Given the description of an element on the screen output the (x, y) to click on. 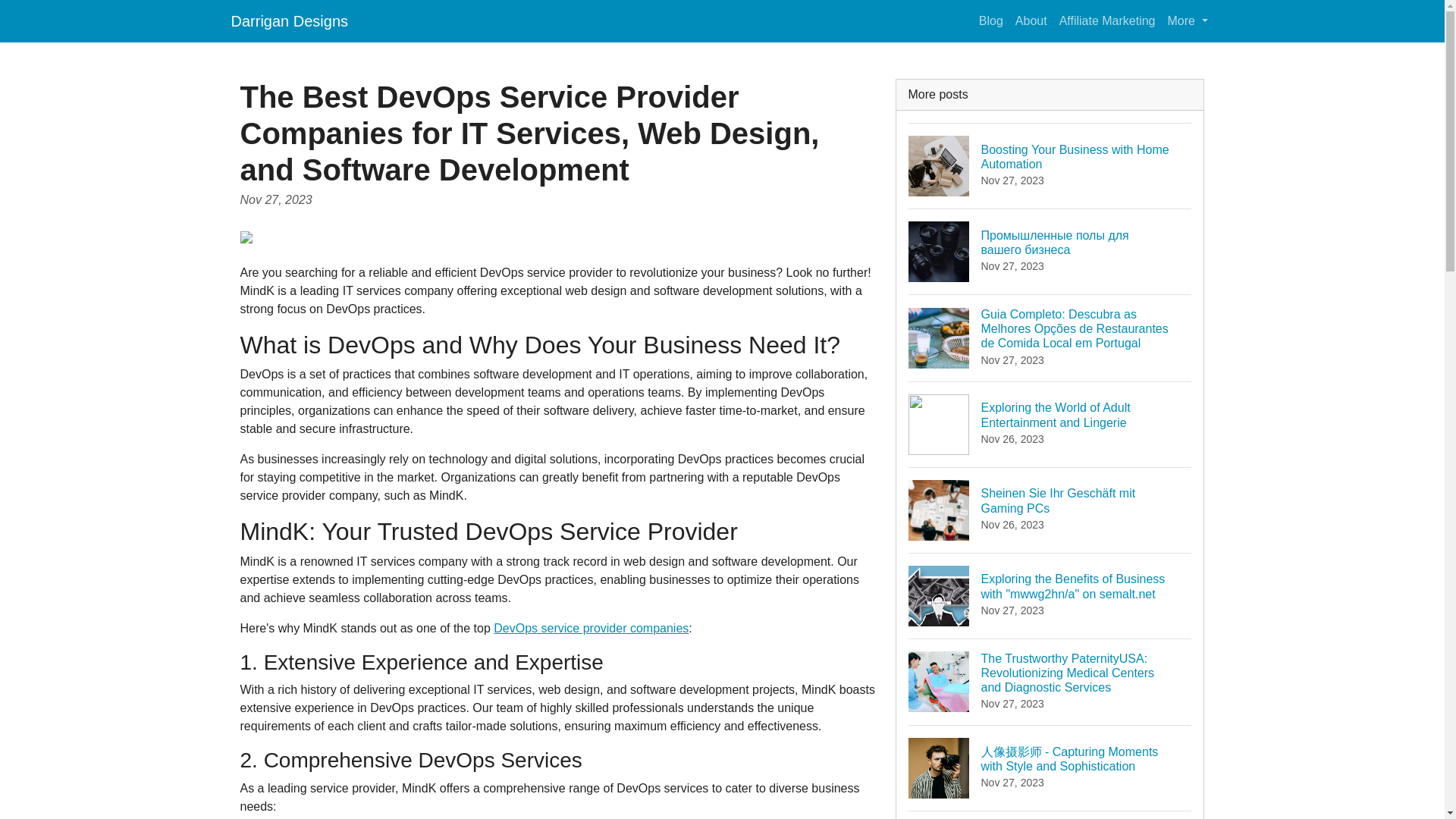
More (1187, 20)
Blog (990, 20)
Affiliate Marketing (1106, 20)
Darrigan Designs (288, 20)
About (1030, 20)
DevOps service provider companies (590, 627)
